Given the description of an element on the screen output the (x, y) to click on. 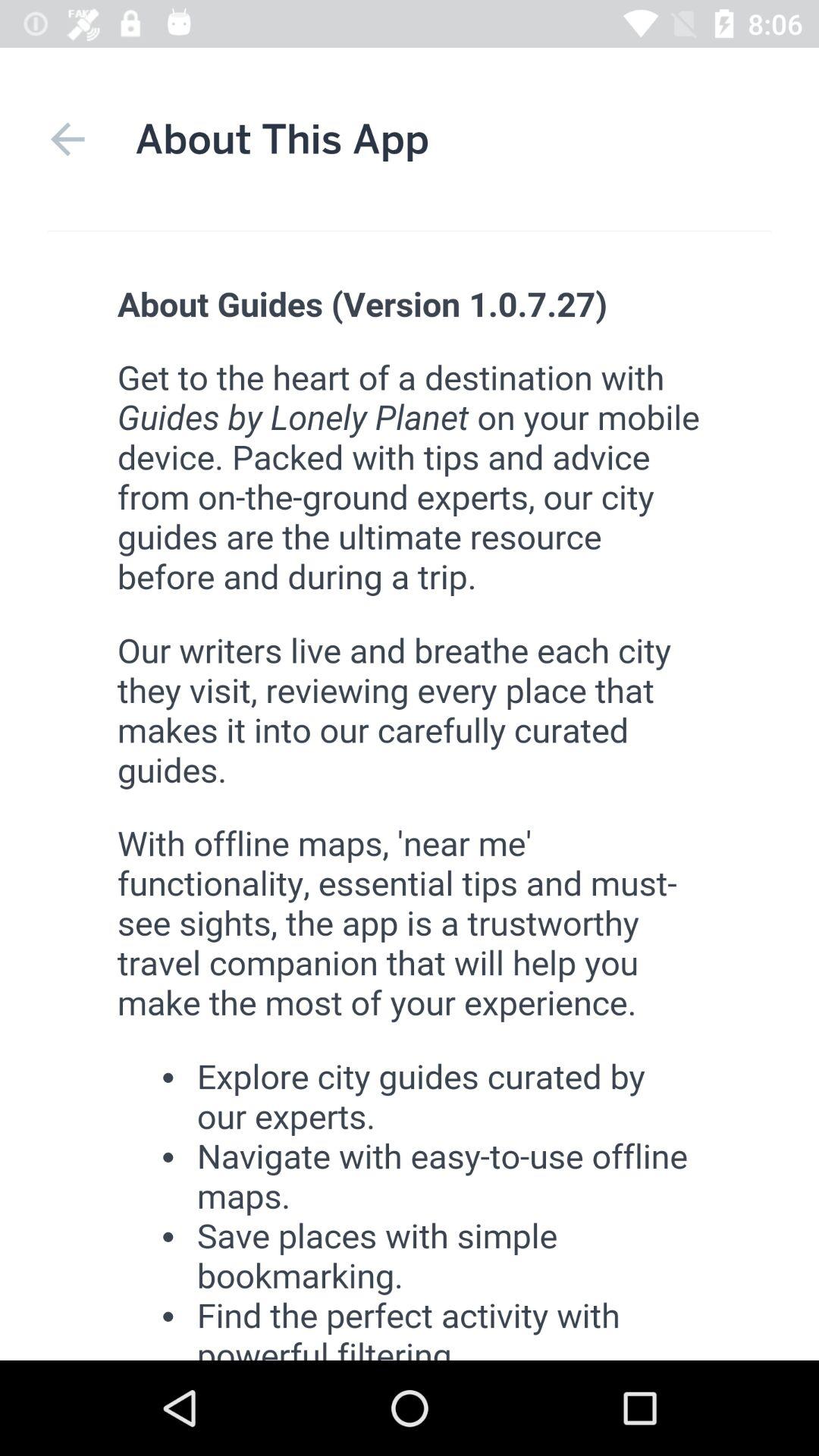
go back (67, 139)
